Given the description of an element on the screen output the (x, y) to click on. 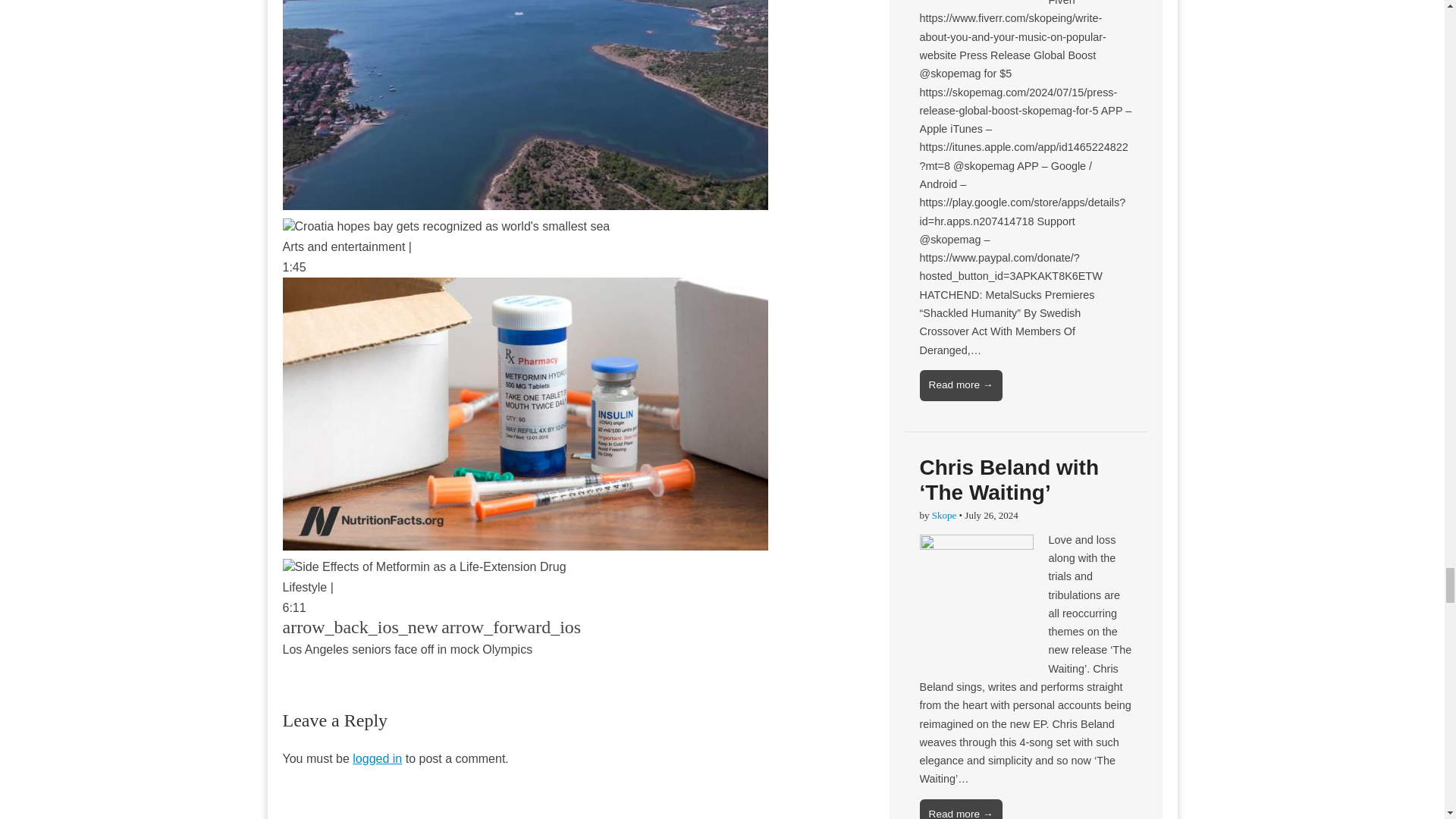
logged in (376, 758)
